Given the description of an element on the screen output the (x, y) to click on. 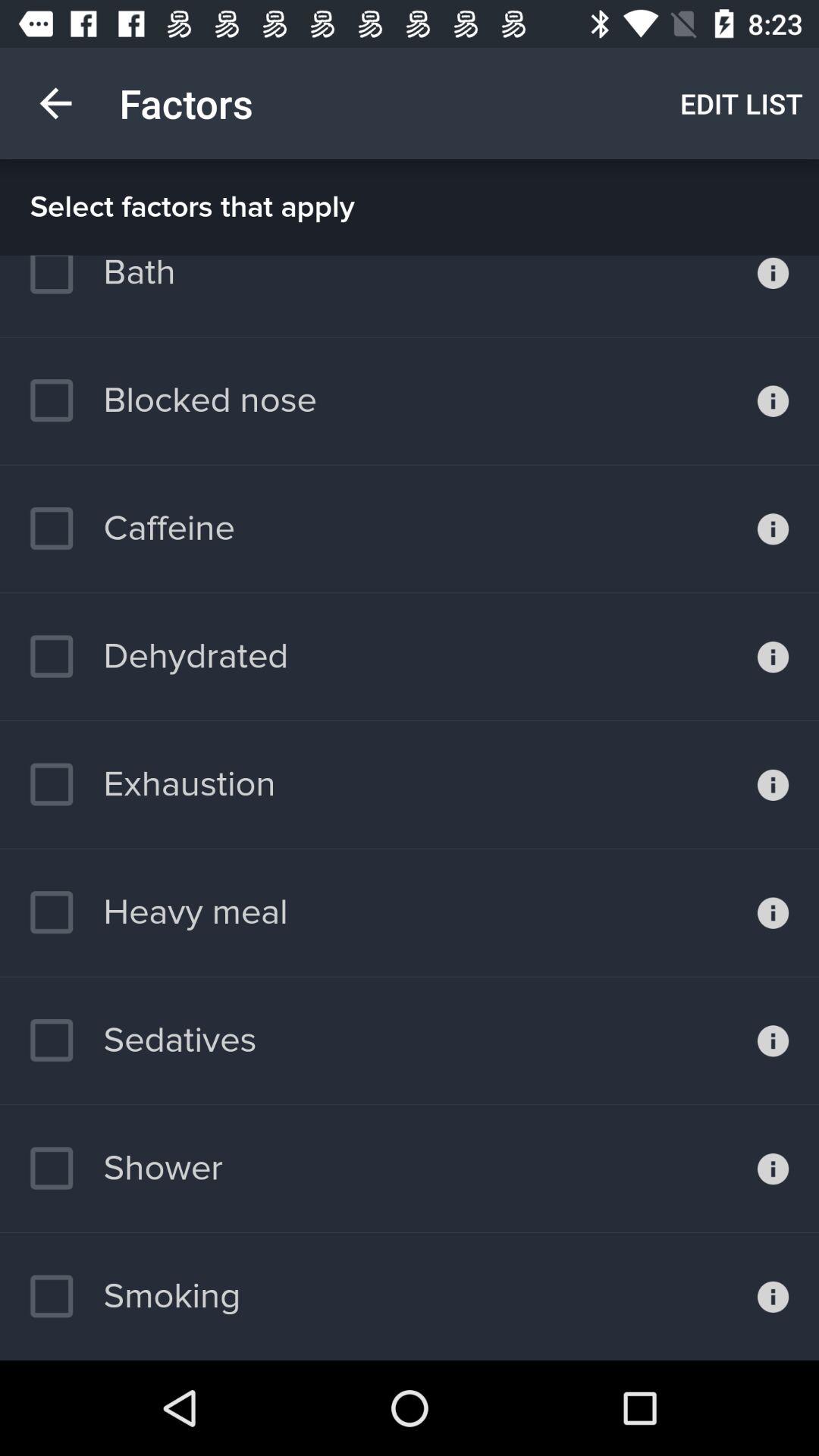
get information (773, 912)
